Given the description of an element on the screen output the (x, y) to click on. 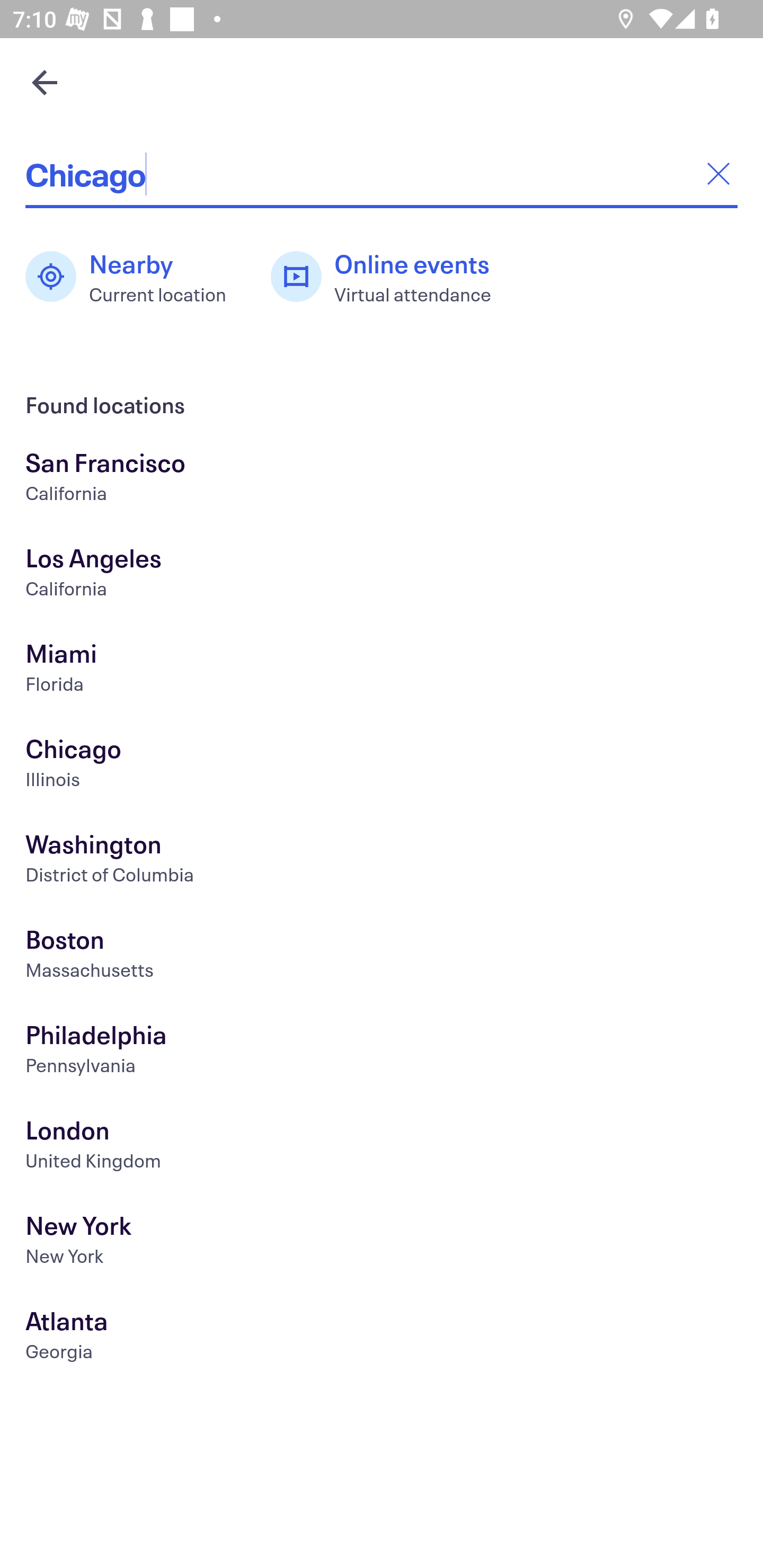
Navigate up (44, 82)
Chicago (381, 173)
Nearby Current location (135, 276)
Online events Virtual attendance (390, 276)
San Francisco California (381, 479)
Los Angeles California (381, 574)
Miami Florida (381, 670)
Chicago Illinois (381, 765)
Washington District of Columbia (381, 861)
Boston Massachusetts (381, 955)
Philadelphia Pennsylvania (381, 1051)
London United Kingdom (381, 1146)
New York (381, 1242)
Atlanta Georgia (381, 1338)
